Given the description of an element on the screen output the (x, y) to click on. 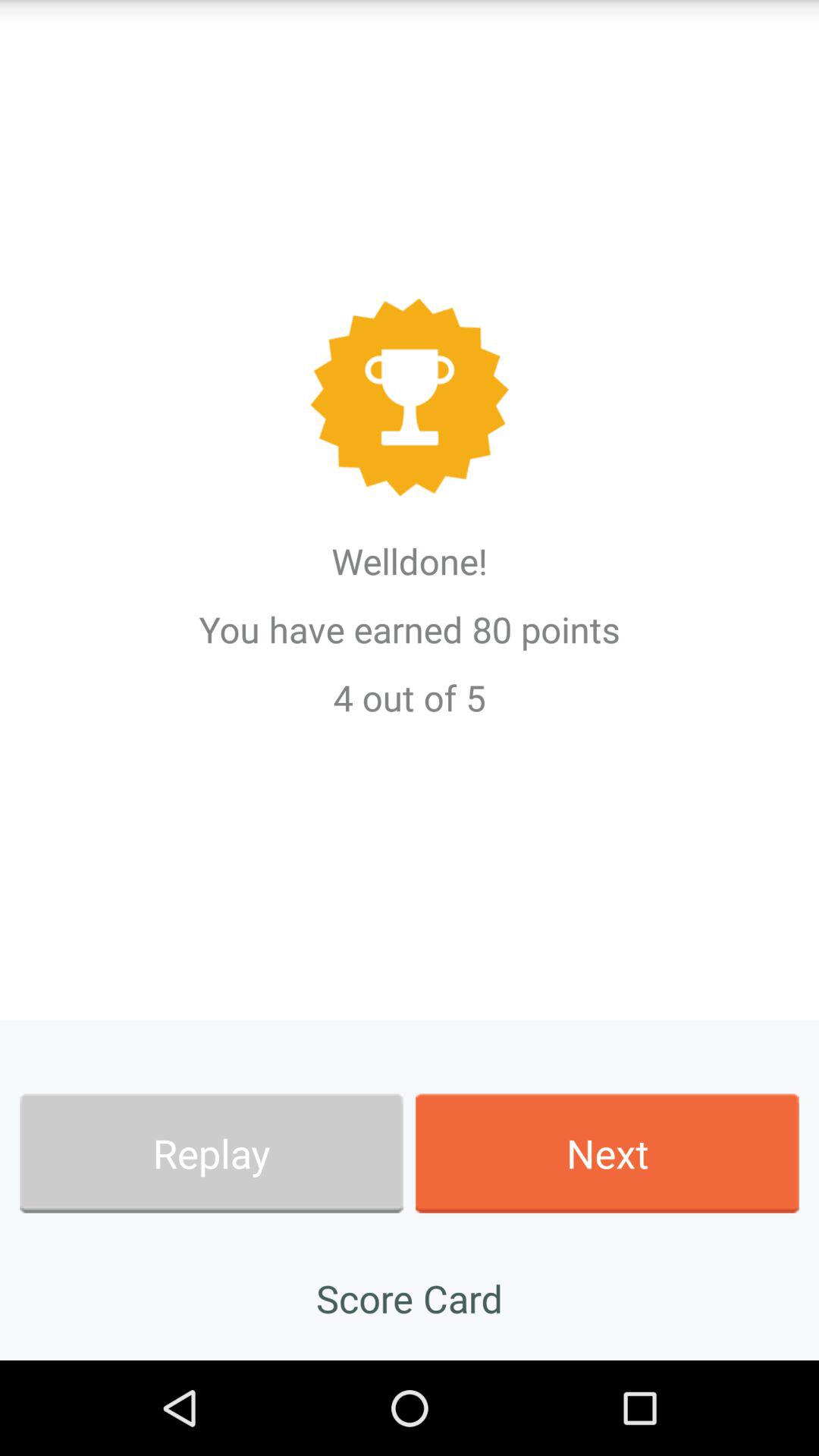
open item next to next icon (211, 1153)
